Given the description of an element on the screen output the (x, y) to click on. 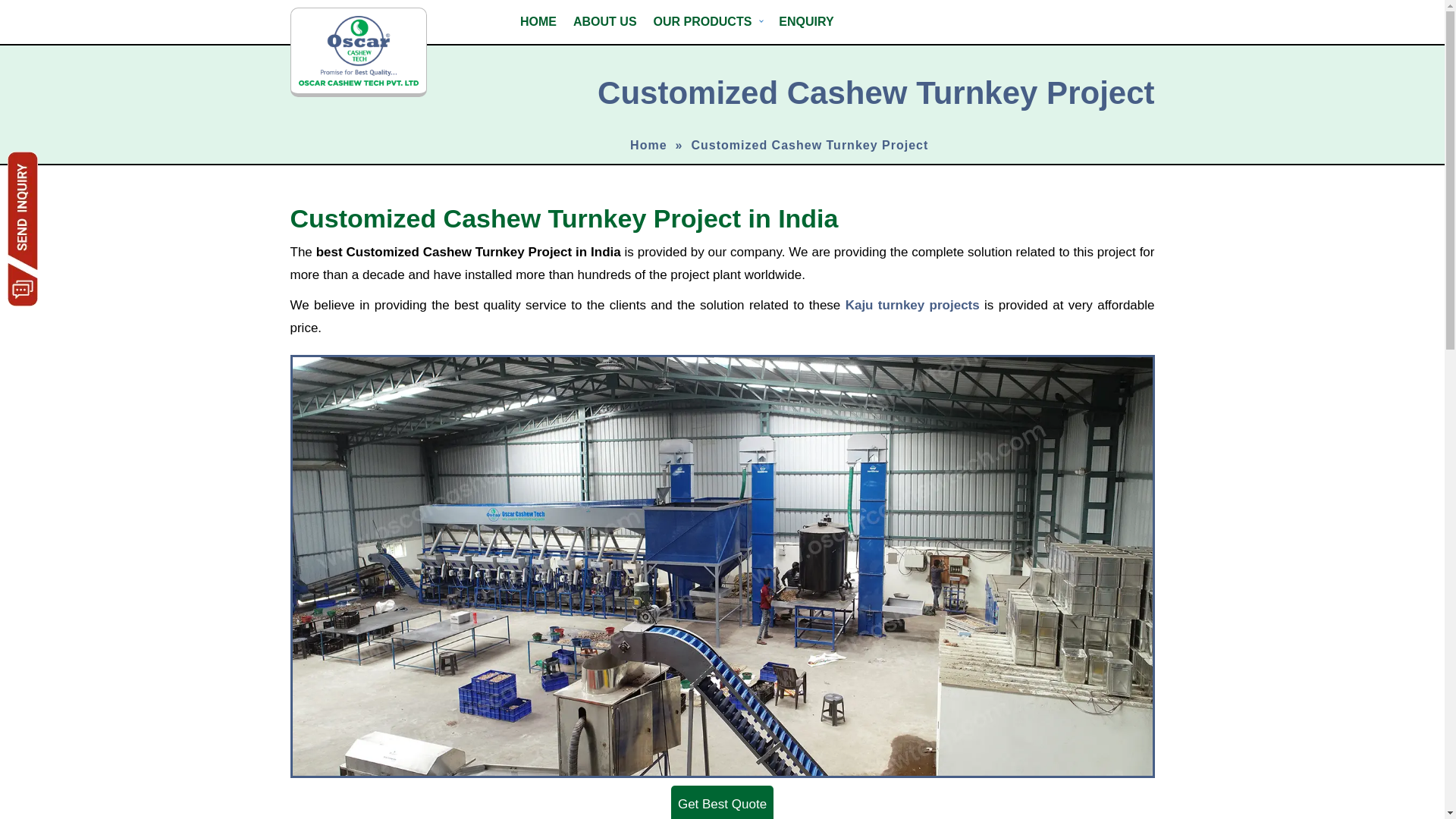
ABOUT US (604, 21)
Kaju turnkey projects (912, 305)
ENQUIRY (805, 21)
HOME (538, 21)
Home (648, 144)
OUR PRODUCTS (708, 21)
Get Best Quote (722, 802)
